Given the description of an element on the screen output the (x, y) to click on. 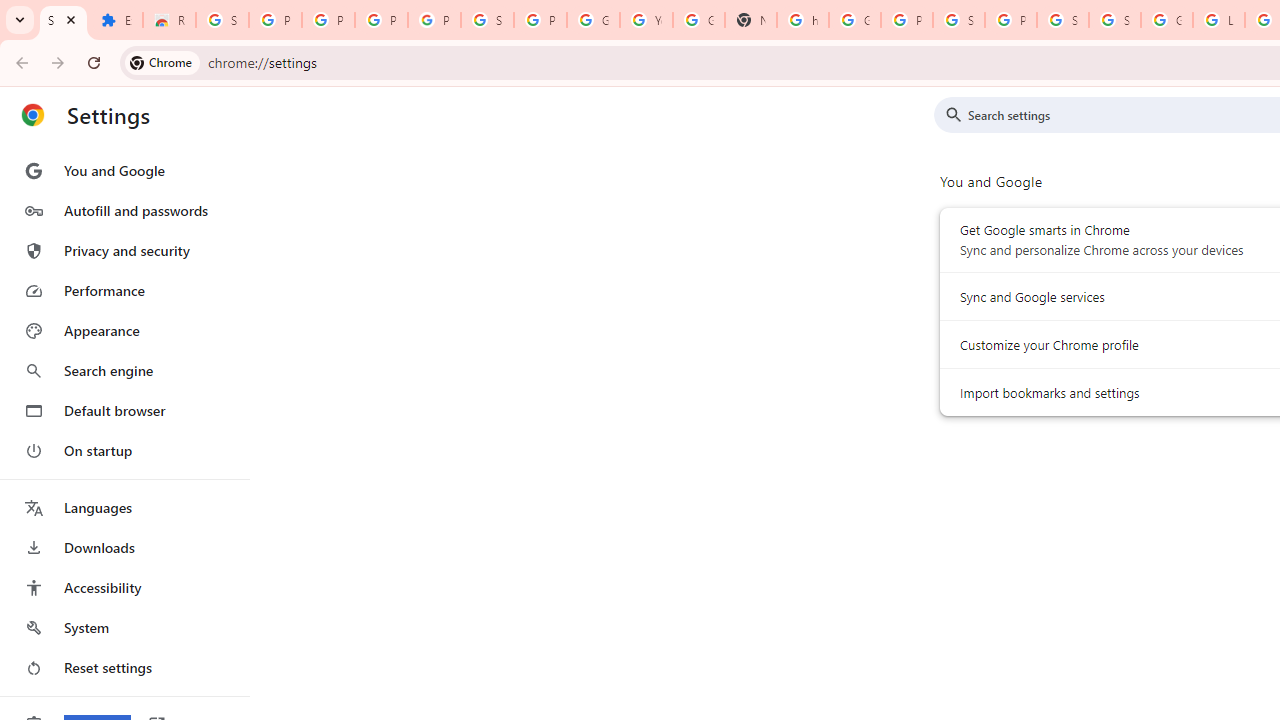
Sign in - Google Accounts (1062, 20)
Reset settings (124, 668)
Privacy and security (124, 250)
Default browser (124, 410)
Accessibility (124, 587)
Appearance (124, 331)
